Given the description of an element on the screen output the (x, y) to click on. 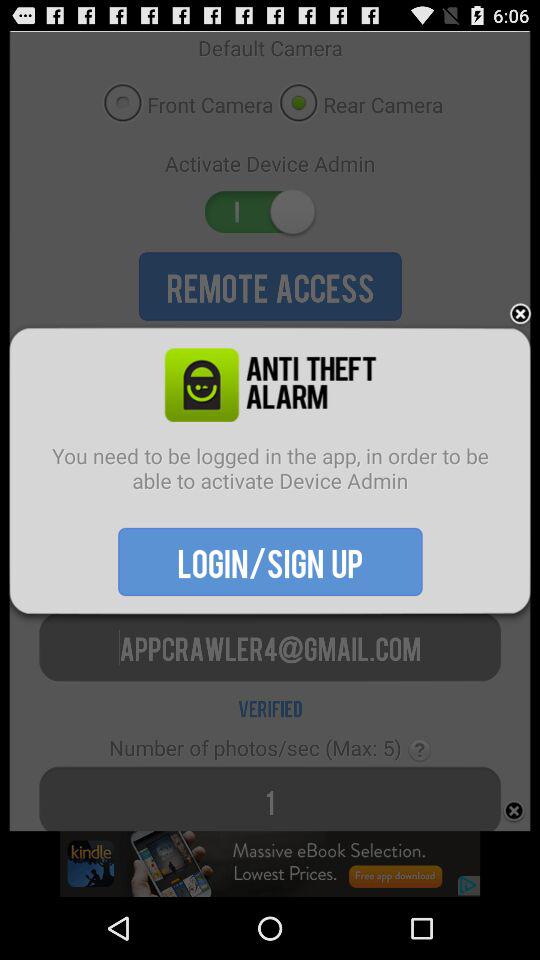
the button is used to close the panel (520, 314)
